Given the description of an element on the screen output the (x, y) to click on. 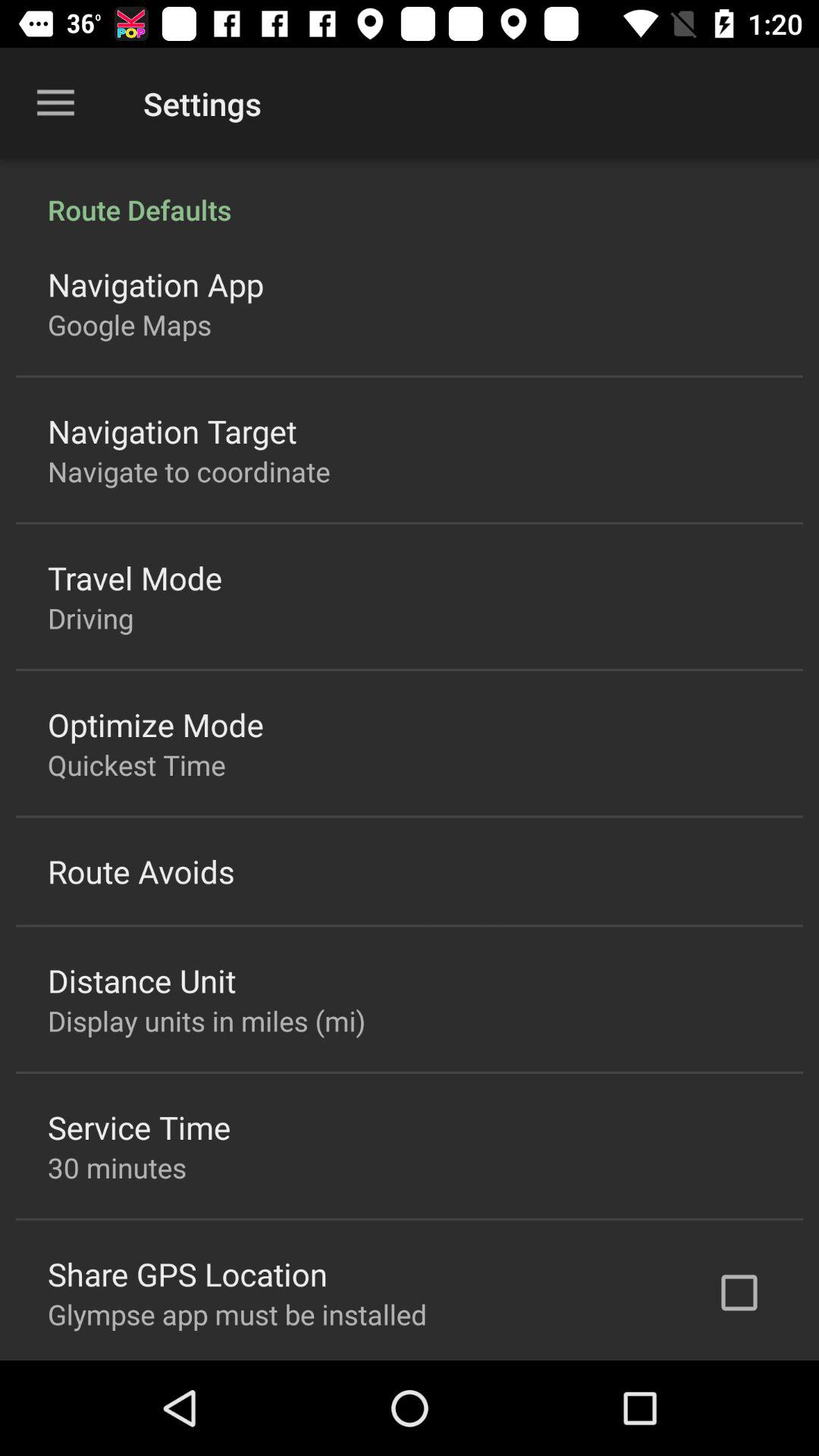
open item above distance unit item (140, 870)
